Given the description of an element on the screen output the (x, y) to click on. 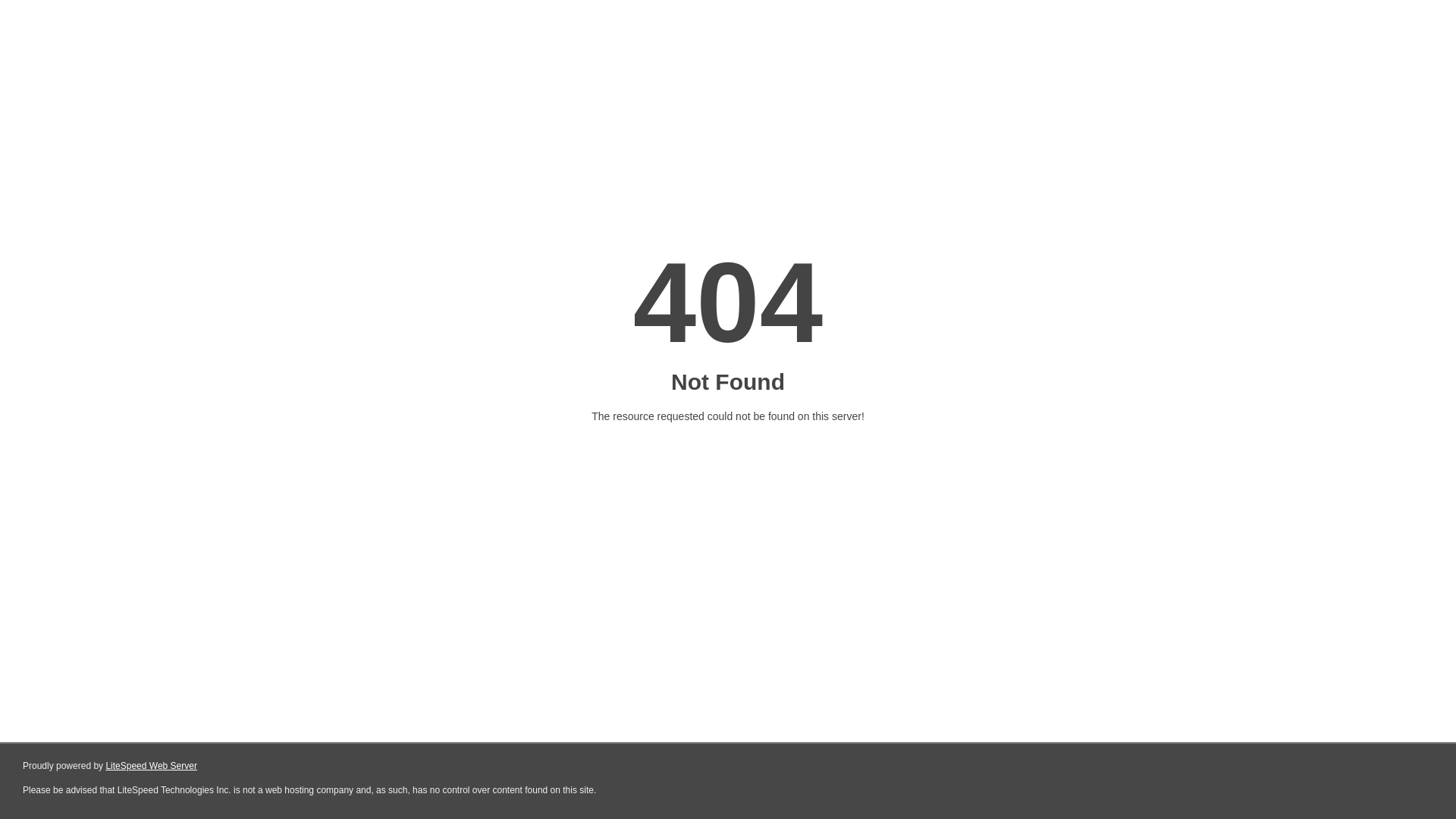
LiteSpeed Web Server Element type: text (151, 765)
